Given the description of an element on the screen output the (x, y) to click on. 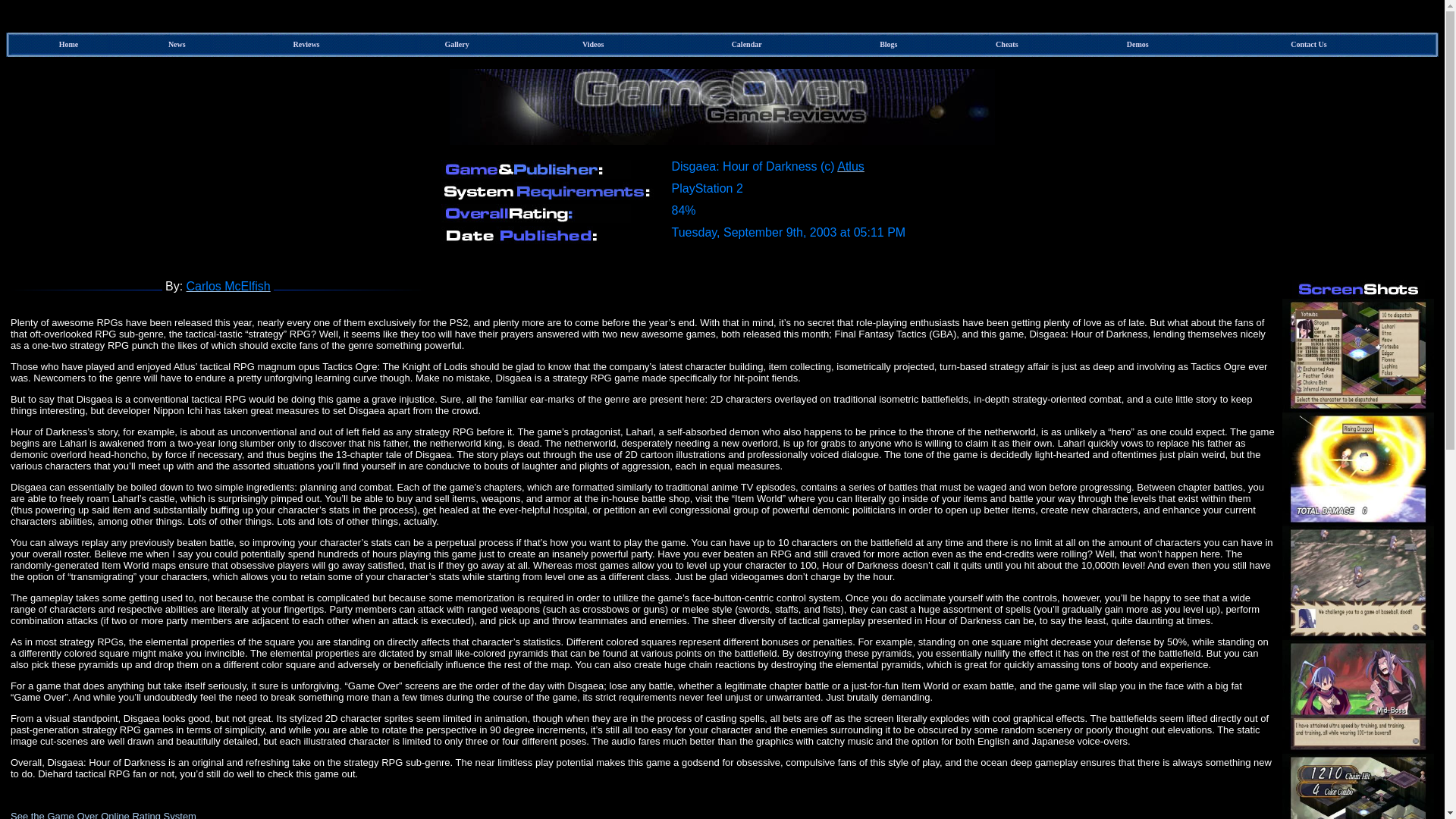
See the Game Over Online Rating System (103, 814)
News (177, 42)
Video Game News (177, 42)
Contact Us (1308, 42)
Game Over Online (68, 42)
Blogs (887, 42)
Videos (593, 42)
Carlos McElfish (228, 286)
Demos (1137, 42)
Blogs (887, 42)
